Given the description of an element on the screen output the (x, y) to click on. 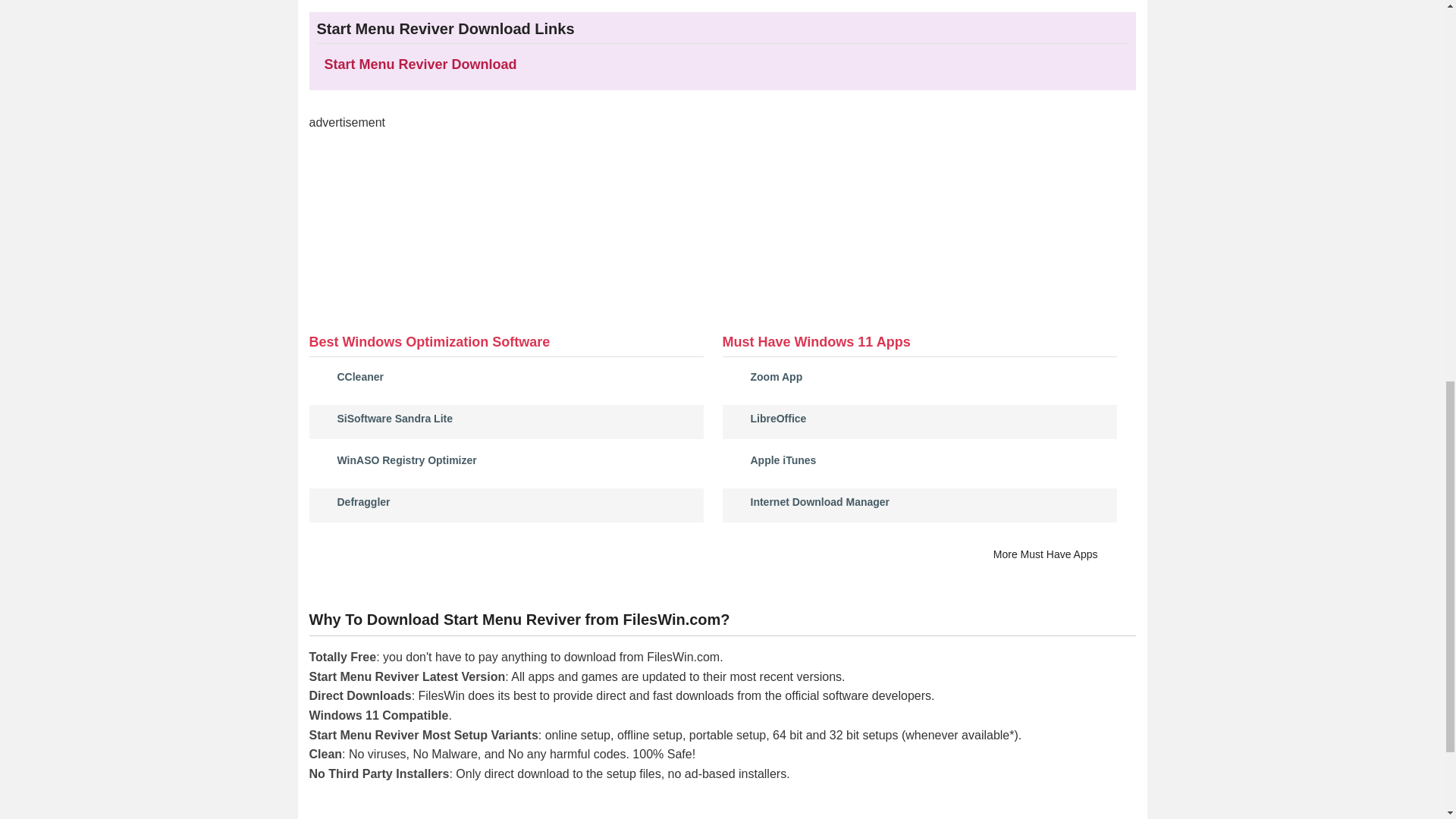
CCleaner (359, 377)
Zoom App (777, 377)
More Must Have Apps (1054, 555)
LibreOffice (778, 418)
CCleaner (359, 377)
Apple iTunes (783, 460)
Defraggler (363, 501)
WinASO Registry Optimizer (406, 460)
Internet Download Manager (820, 501)
Start Menu Reviver Download (420, 64)
LibreOffice (778, 418)
Apple iTunes (783, 460)
More Must Have (1054, 555)
Defraggler (363, 501)
Start Menu Reviver Download (420, 64)
